Given the description of an element on the screen output the (x, y) to click on. 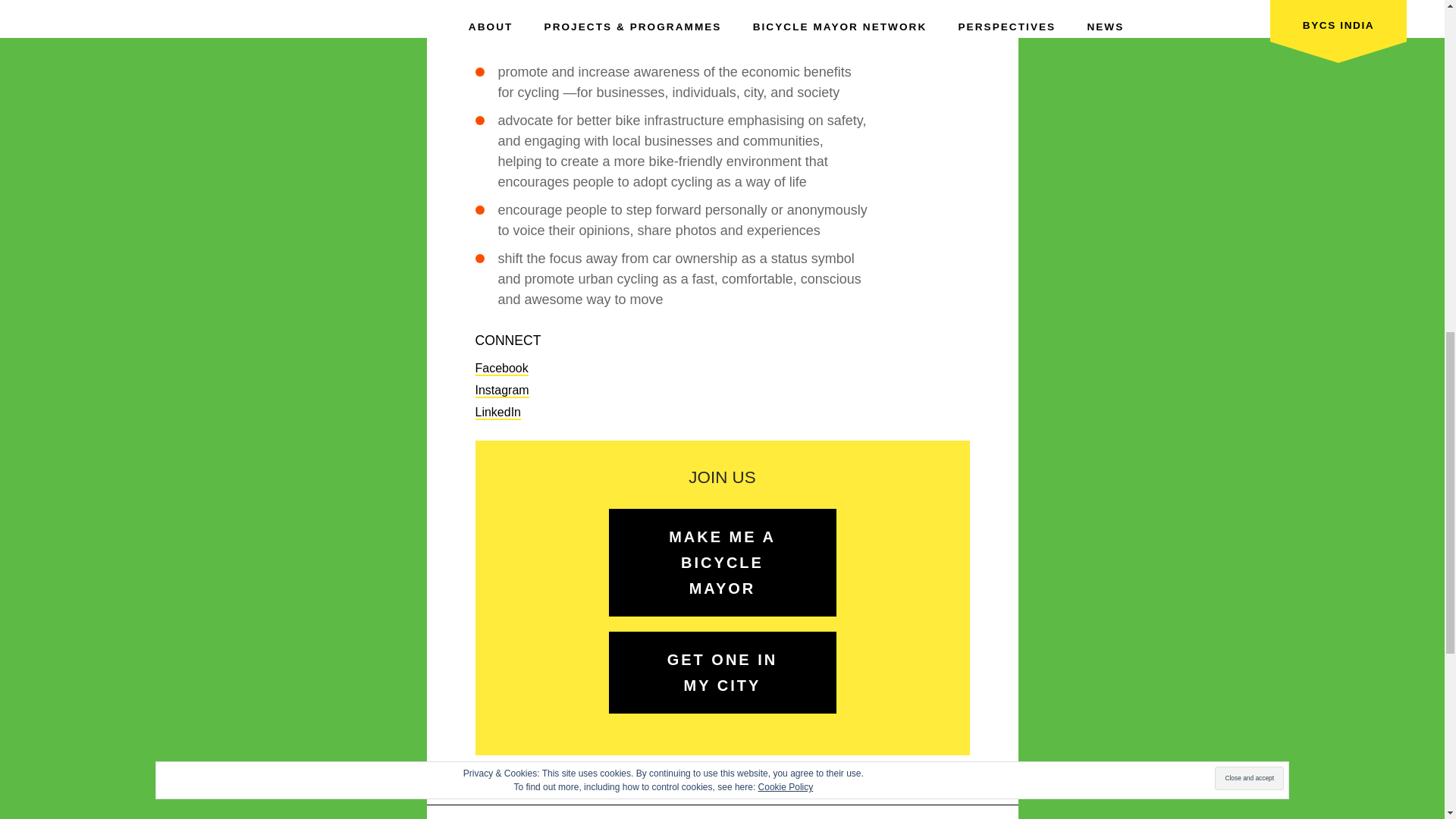
Facebook (500, 368)
LinkedIn (497, 412)
MAKE ME A BICYCLE MAYOR (721, 562)
Instagram (501, 391)
GET ONE IN MY CITY (721, 672)
